Given the description of an element on the screen output the (x, y) to click on. 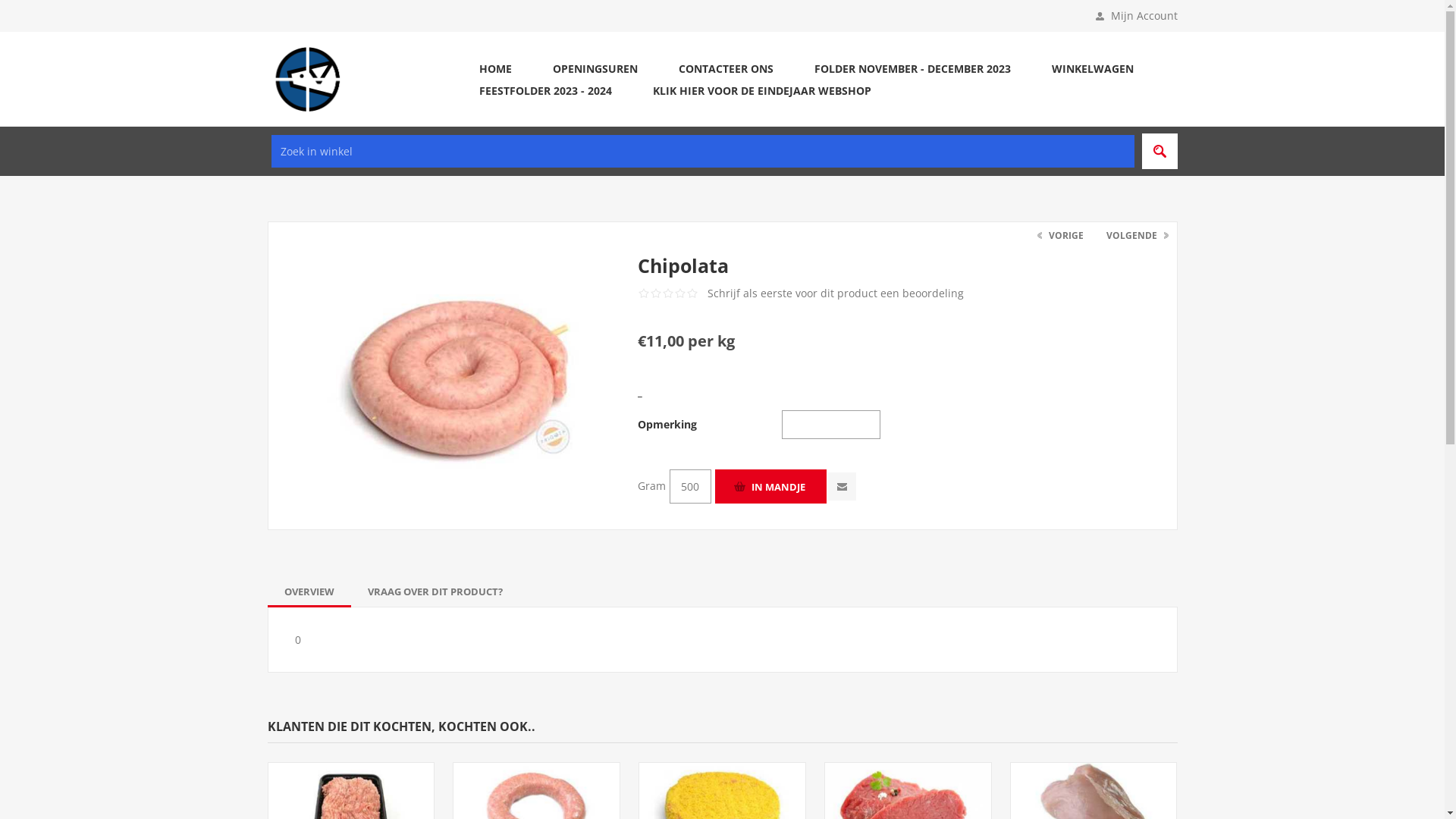
OVERVIEW Element type: text (308, 591)
E-mail een vriend Element type: text (842, 486)
WINKELWAGEN Element type: text (1092, 68)
KLIK HIER VOOR DE EINDEJAAR WEBSHOP Element type: text (761, 89)
FEESTFOLDER 2023 - 2024 Element type: text (544, 89)
Search Element type: text (1159, 151)
HOME Element type: text (494, 68)
OPENINGSUREN Element type: text (595, 68)
VOLGENDE Element type: text (1136, 235)
VRAAG OVER DIT PRODUCT? Element type: text (434, 591)
VORIGE Element type: text (1061, 235)
Schrijf als eerste voor dit product een beoordeling Element type: text (835, 292)
FOLDER NOVEMBER - DECEMBER 2023 Element type: text (911, 68)
Afbeelding van Chipolata Element type: hover (459, 373)
CONTACTEER ONS Element type: text (725, 68)
In mandje Element type: text (770, 486)
